Given the description of an element on the screen output the (x, y) to click on. 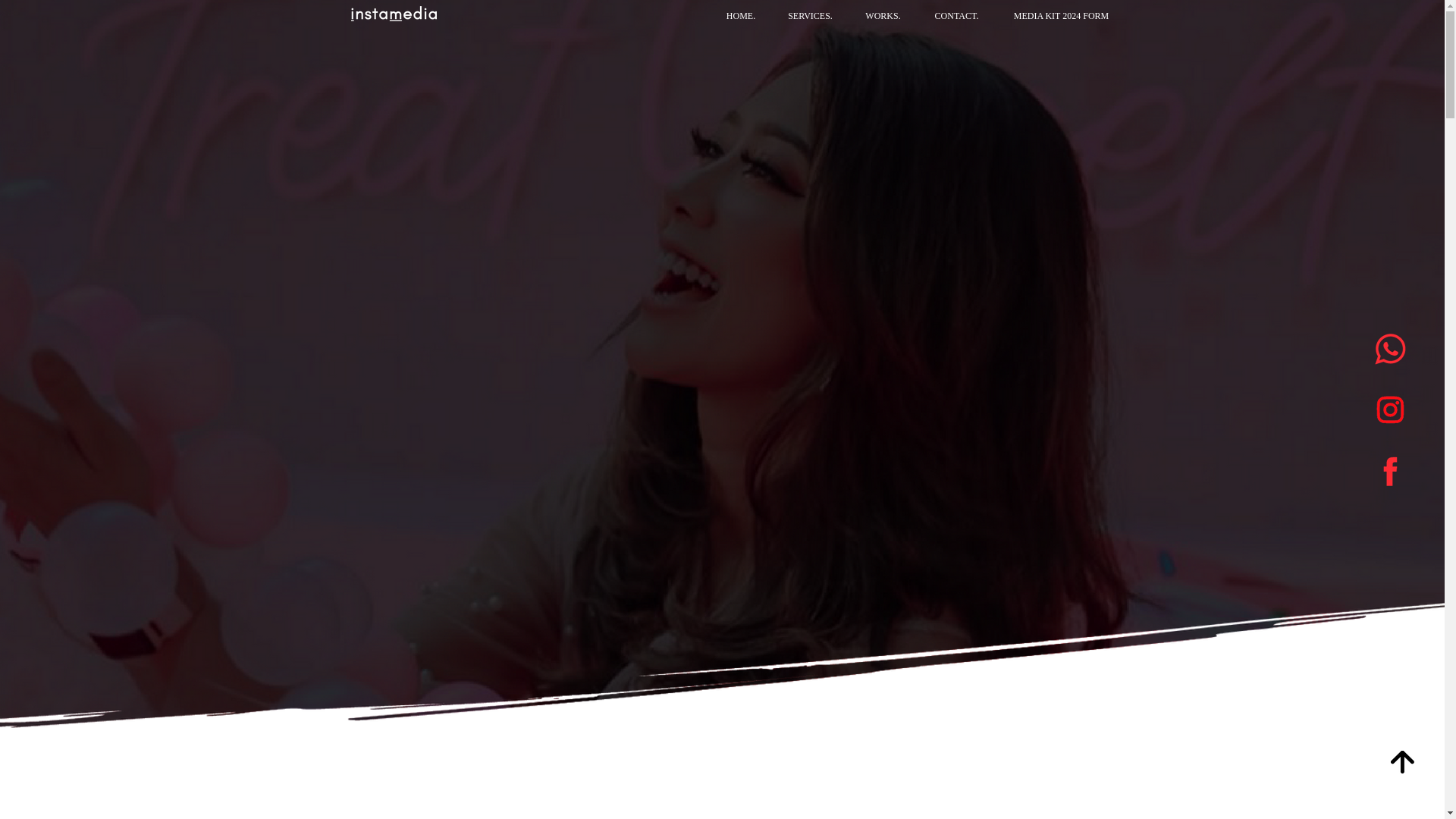
MEDIA KIT 2024 FORM (1060, 16)
CONTACT. (956, 16)
HOME. (740, 16)
